Given the description of an element on the screen output the (x, y) to click on. 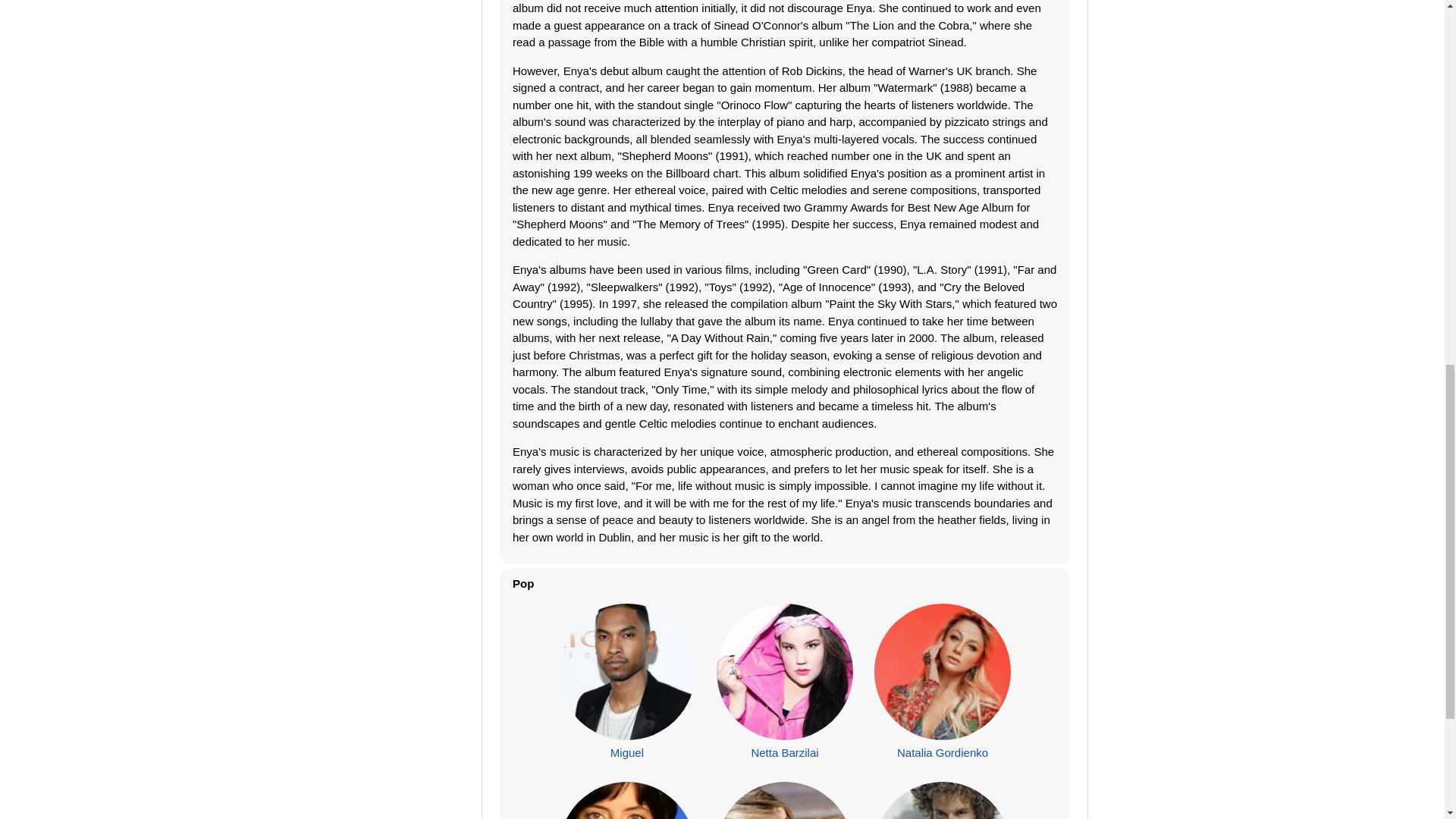
Netta Barzilai (784, 752)
Miguel (626, 752)
Natalia Gordienko (942, 752)
